Given the description of an element on the screen output the (x, y) to click on. 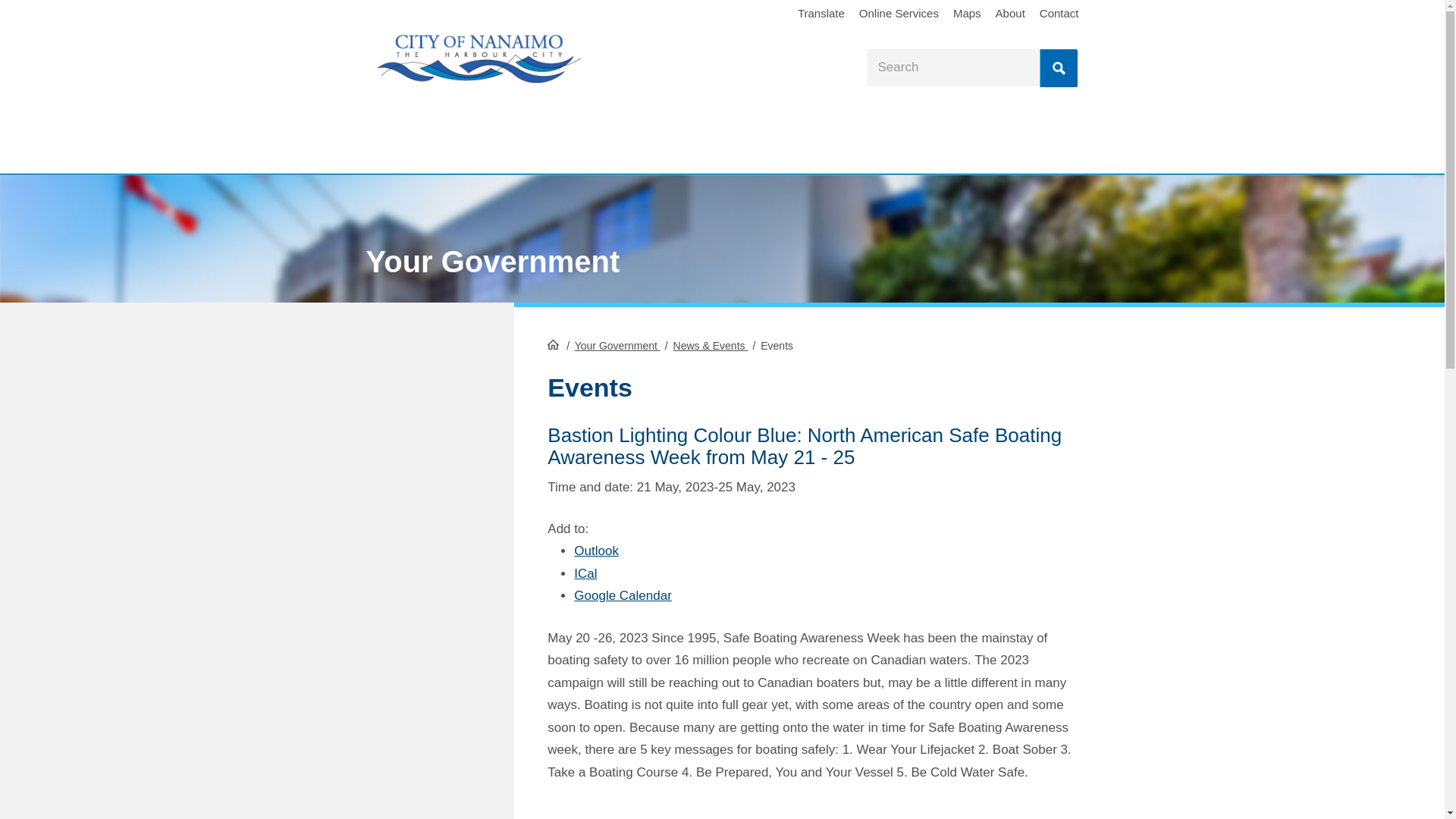
Online Services (899, 13)
Translate (820, 13)
About (1009, 13)
logo (478, 58)
Maps (966, 13)
Contact (1058, 13)
Search (1058, 67)
Search input (972, 67)
